Given the description of an element on the screen output the (x, y) to click on. 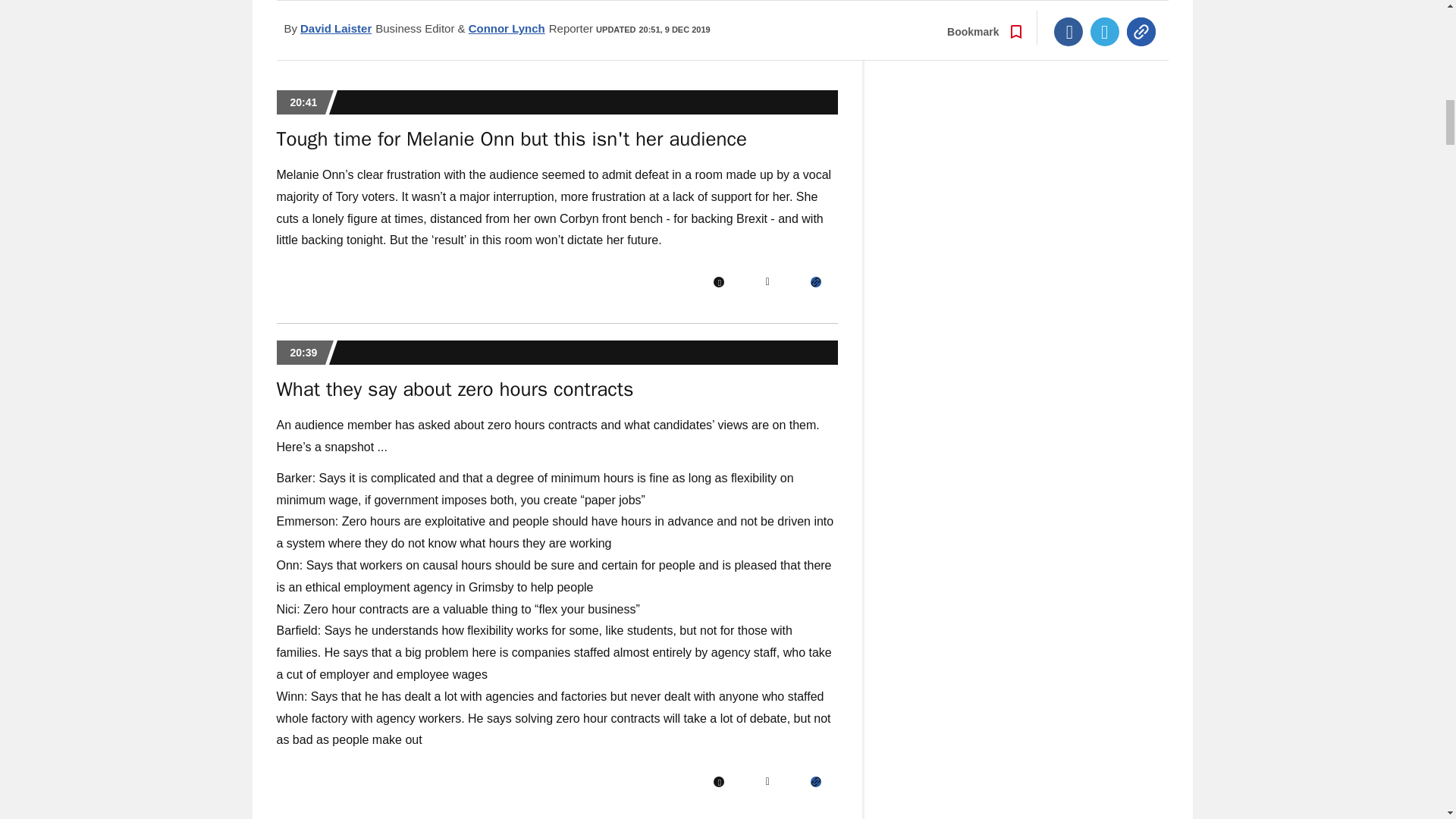
Twitter (767, 781)
Twitter (767, 281)
Facebook (718, 781)
Facebook (718, 281)
